Given the description of an element on the screen output the (x, y) to click on. 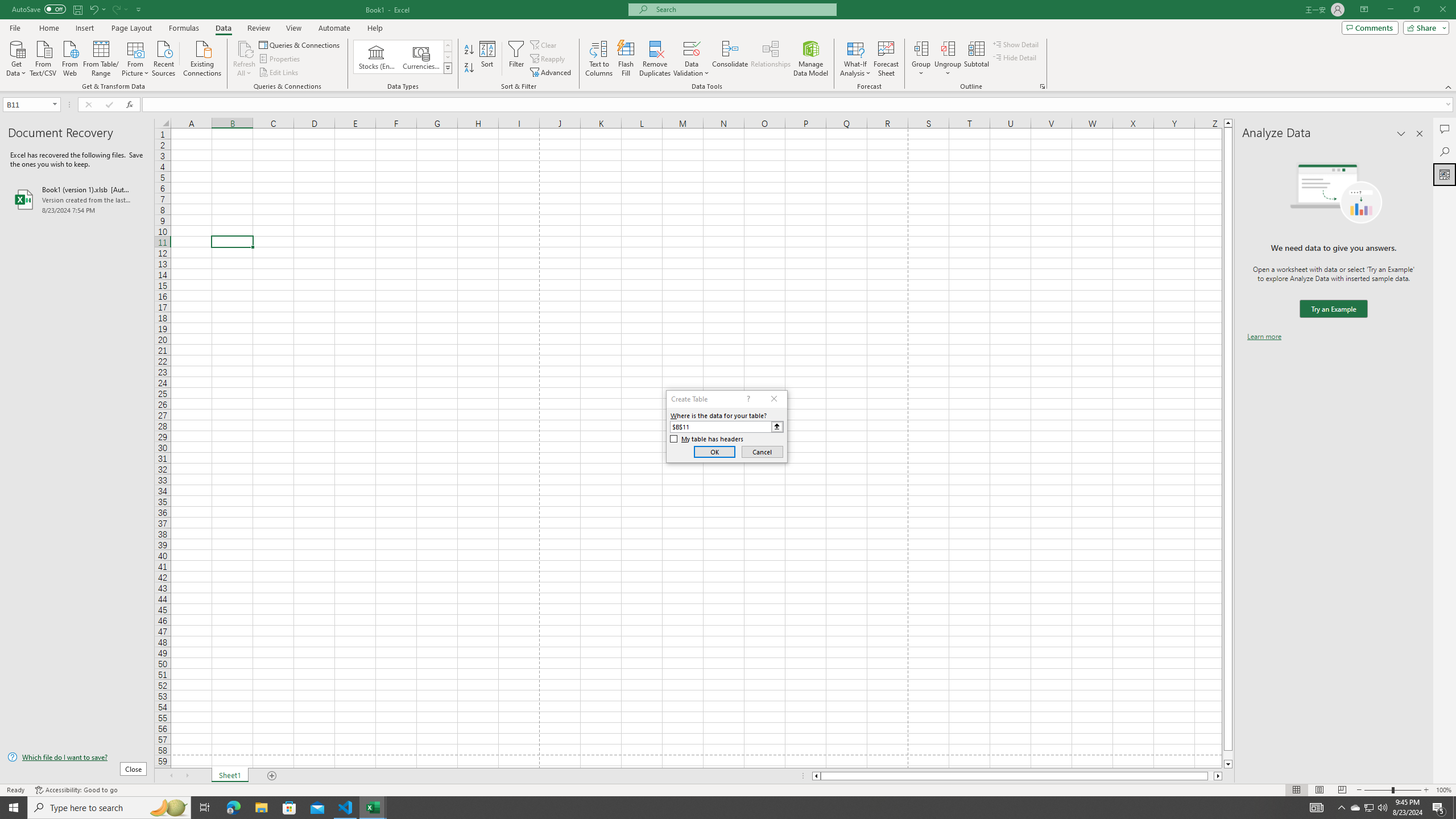
Reapply (548, 58)
Sort Z to A (469, 67)
Flash Fill (625, 58)
Remove Duplicates (654, 58)
Stocks (English) (375, 56)
